Given the description of an element on the screen output the (x, y) to click on. 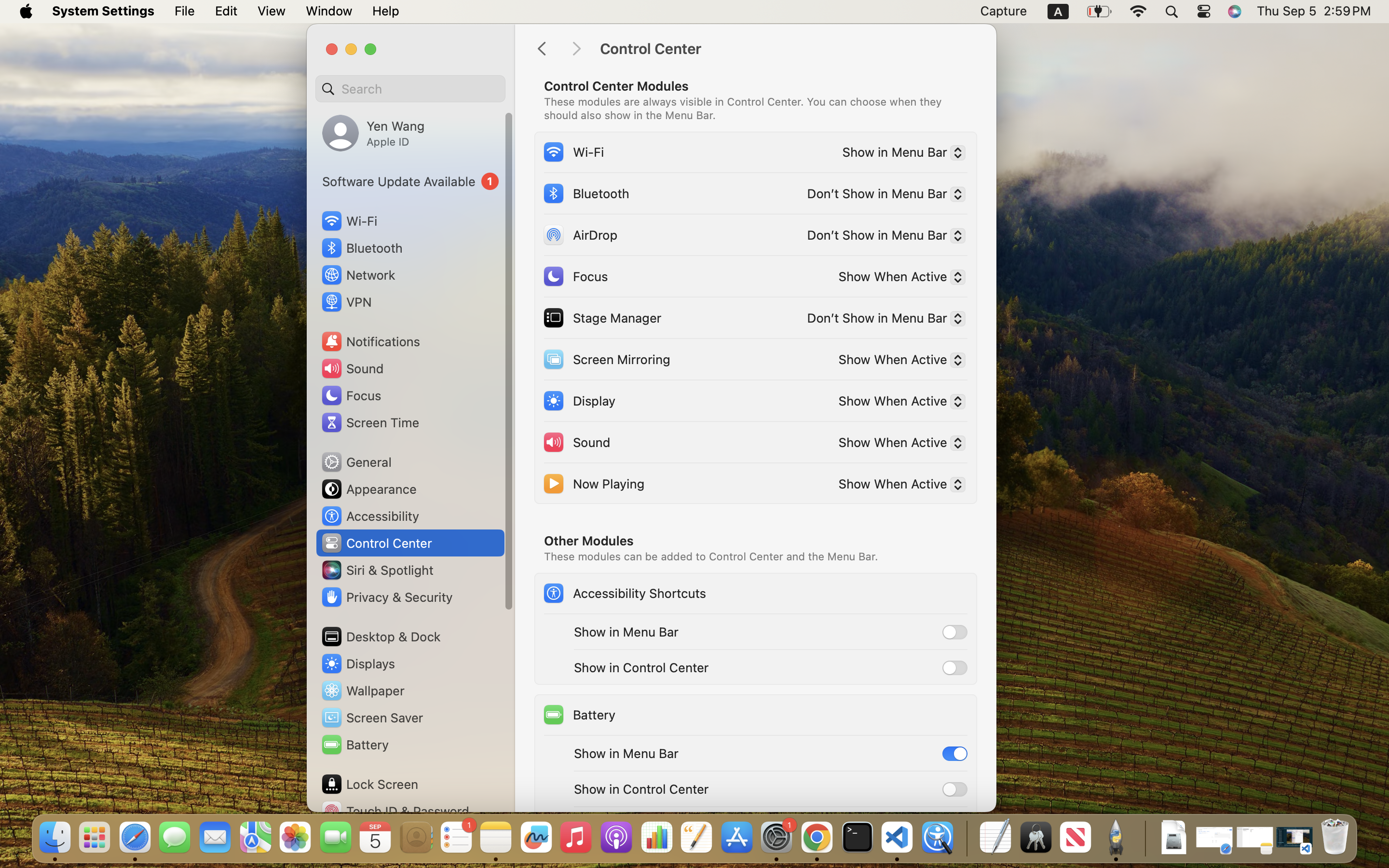
Control Center Element type: AXStaticText (788, 49)
Yen Wang, Apple ID Element type: AXStaticText (373, 132)
Show When Active Element type: AXPopUpButton (897, 444)
Accessibility Element type: AXStaticText (369, 515)
Bluetooth Element type: AXStaticText (585, 192)
